Given the description of an element on the screen output the (x, y) to click on. 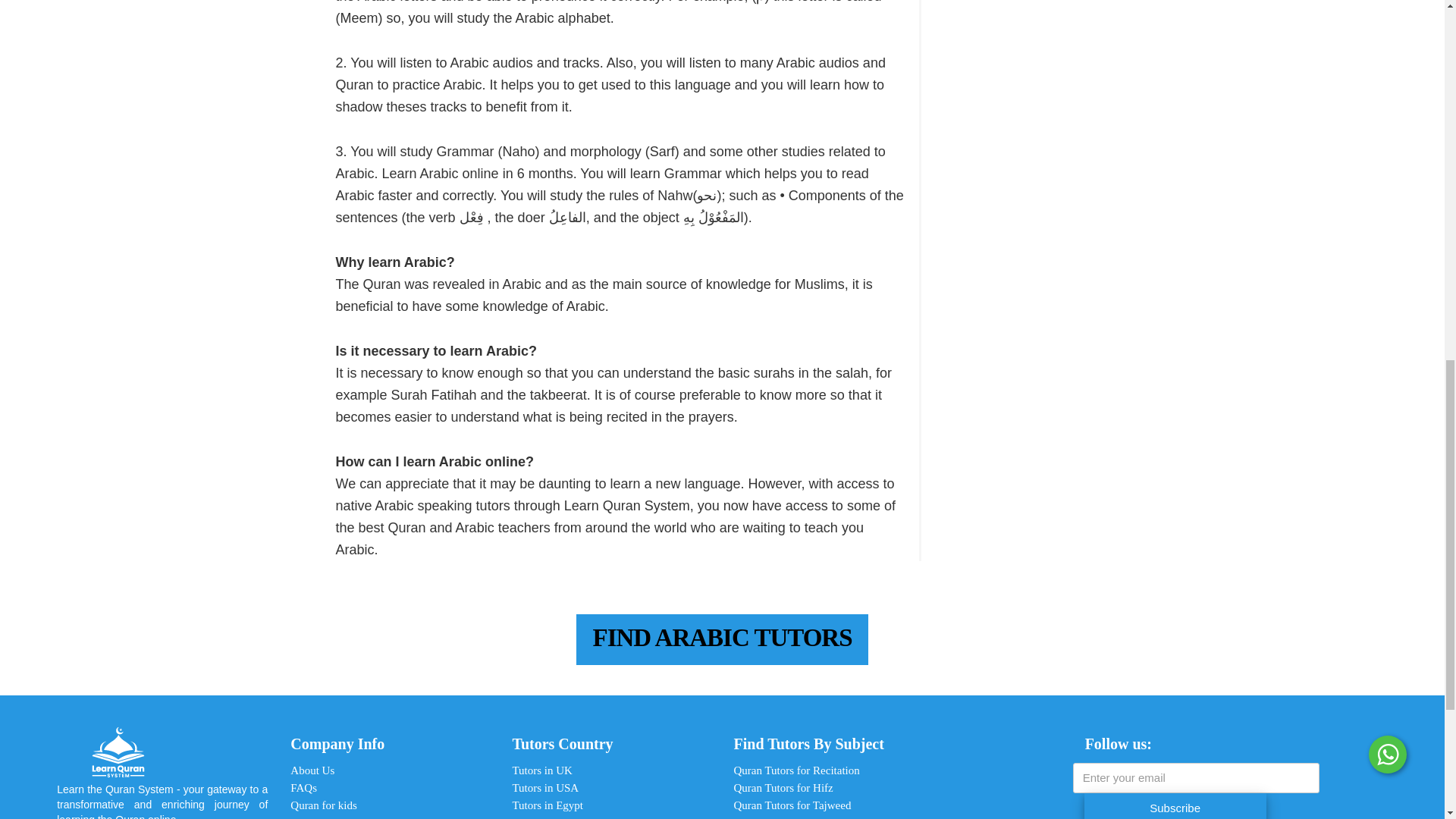
TutorEvaluation Criteria (345, 818)
Quran for kids (322, 805)
Tutors in Saudi Arabia (563, 818)
About Us (311, 770)
FIND ARABIC TUTORS (721, 639)
Tutors in UK (542, 770)
Tutors in Egypt (547, 805)
Tutors in USA (545, 787)
FAQs (303, 787)
Quran Tutors for Recitation (796, 770)
